Given the description of an element on the screen output the (x, y) to click on. 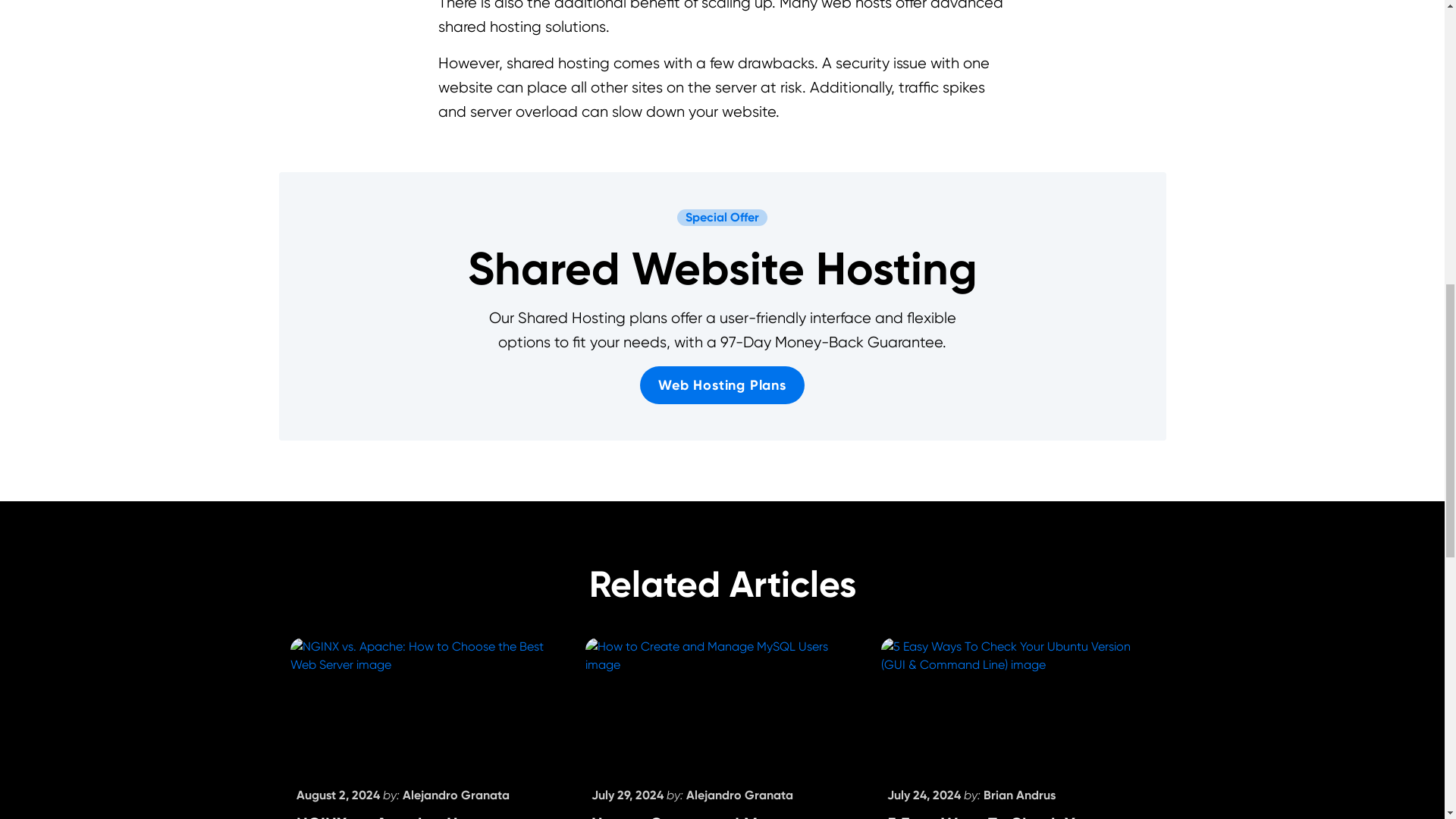
Web Hosting Plans (722, 385)
How to Create and Manage MySQL Users (700, 816)
NGINX vs. Apache: How to Choose the Best Web Server (407, 816)
